Given the description of an element on the screen output the (x, y) to click on. 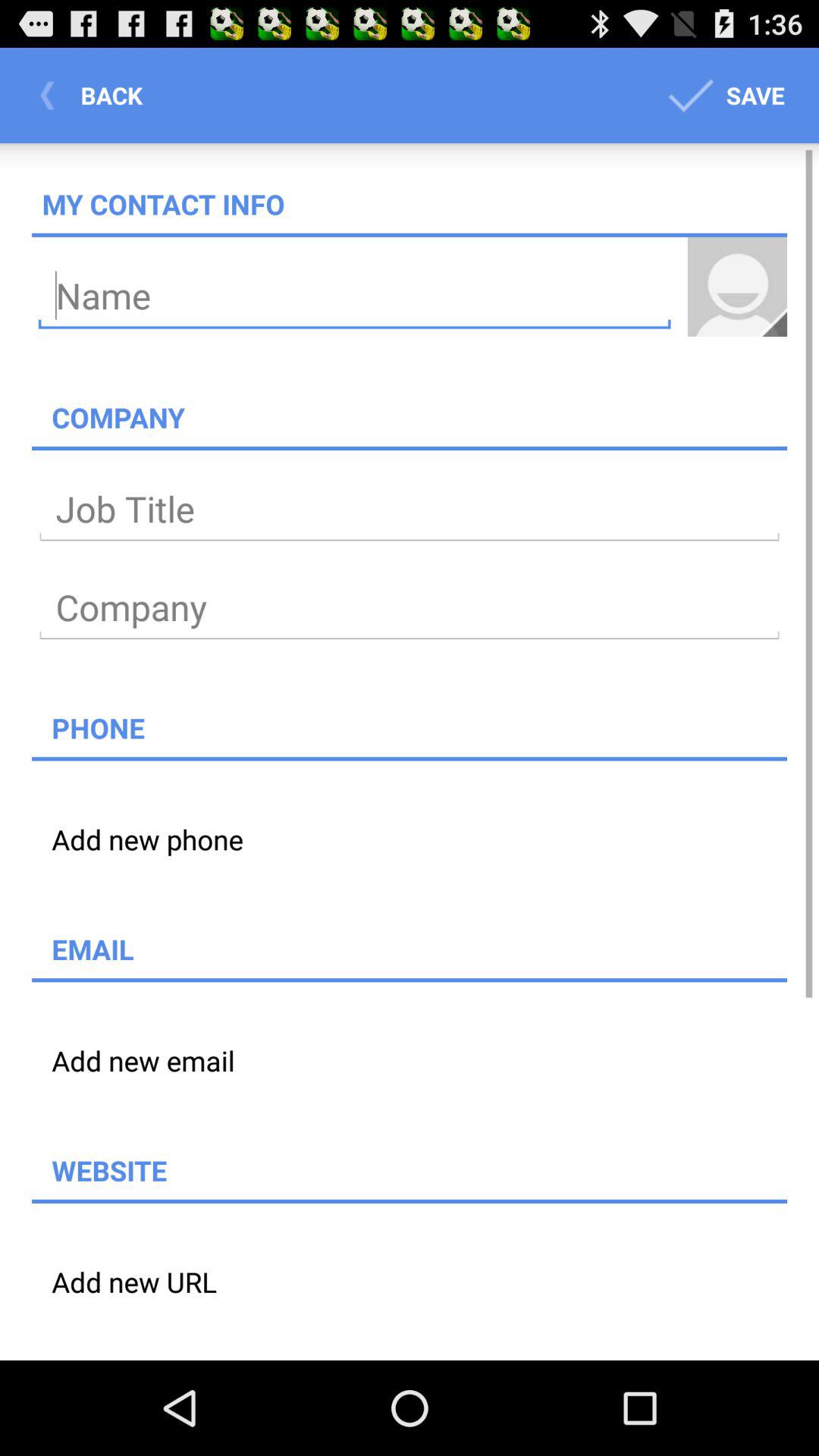
turn off item above the company icon (737, 286)
